Given the description of an element on the screen output the (x, y) to click on. 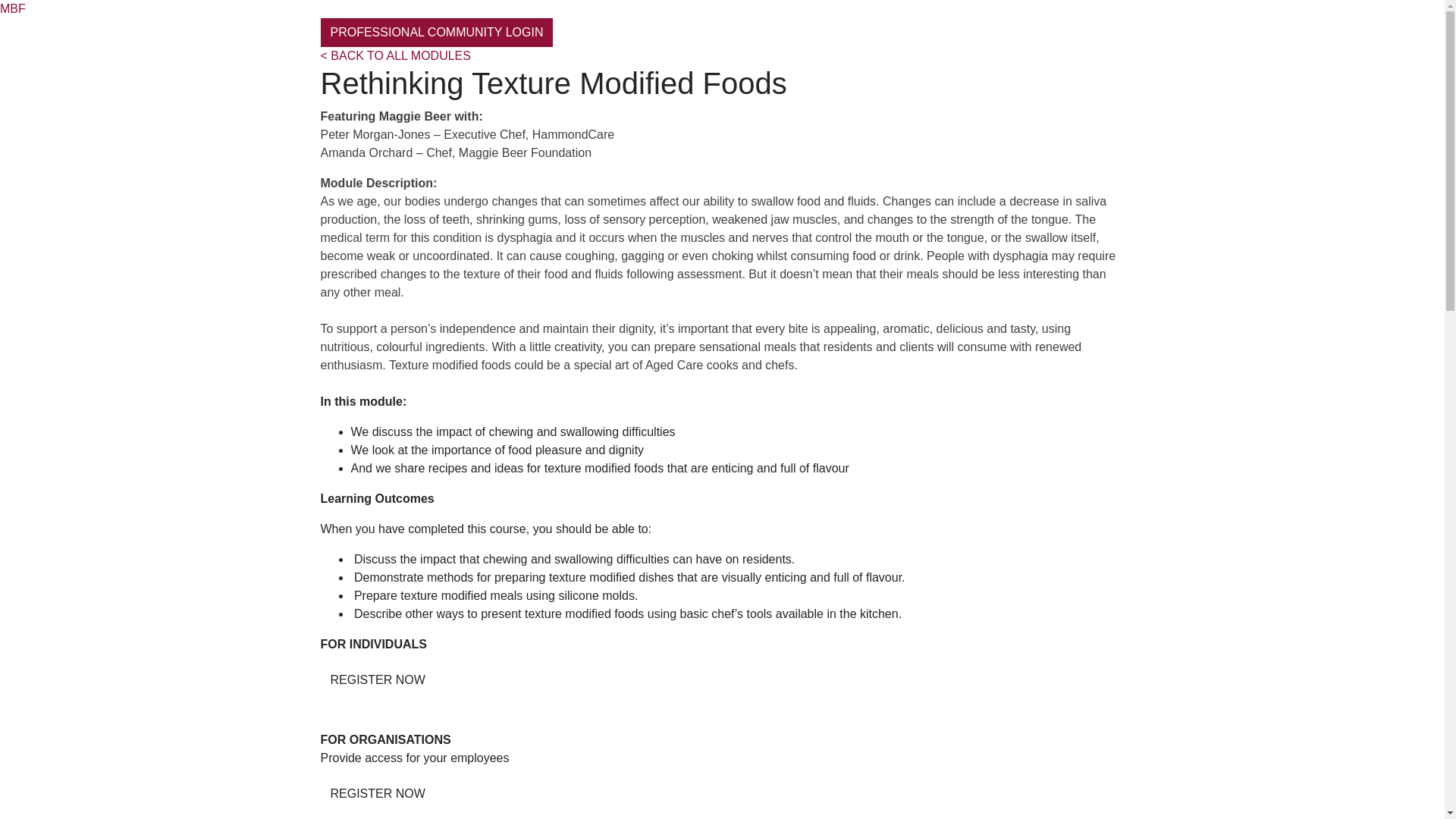
REGISTER NOW Element type: text (377, 679)
MBF Element type: text (12, 8)
< BACK TO ALL MODULES Element type: text (395, 55)
REGISTER NOW Element type: text (377, 793)
PROFESSIONAL COMMUNITY LOGIN Element type: text (436, 32)
